Given the description of an element on the screen output the (x, y) to click on. 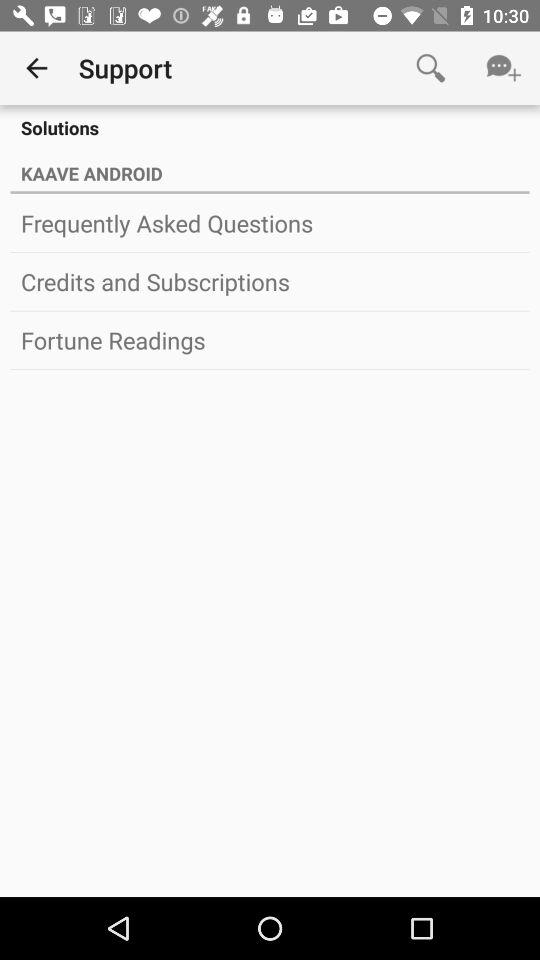
swipe until frequently asked questions (269, 223)
